Given the description of an element on the screen output the (x, y) to click on. 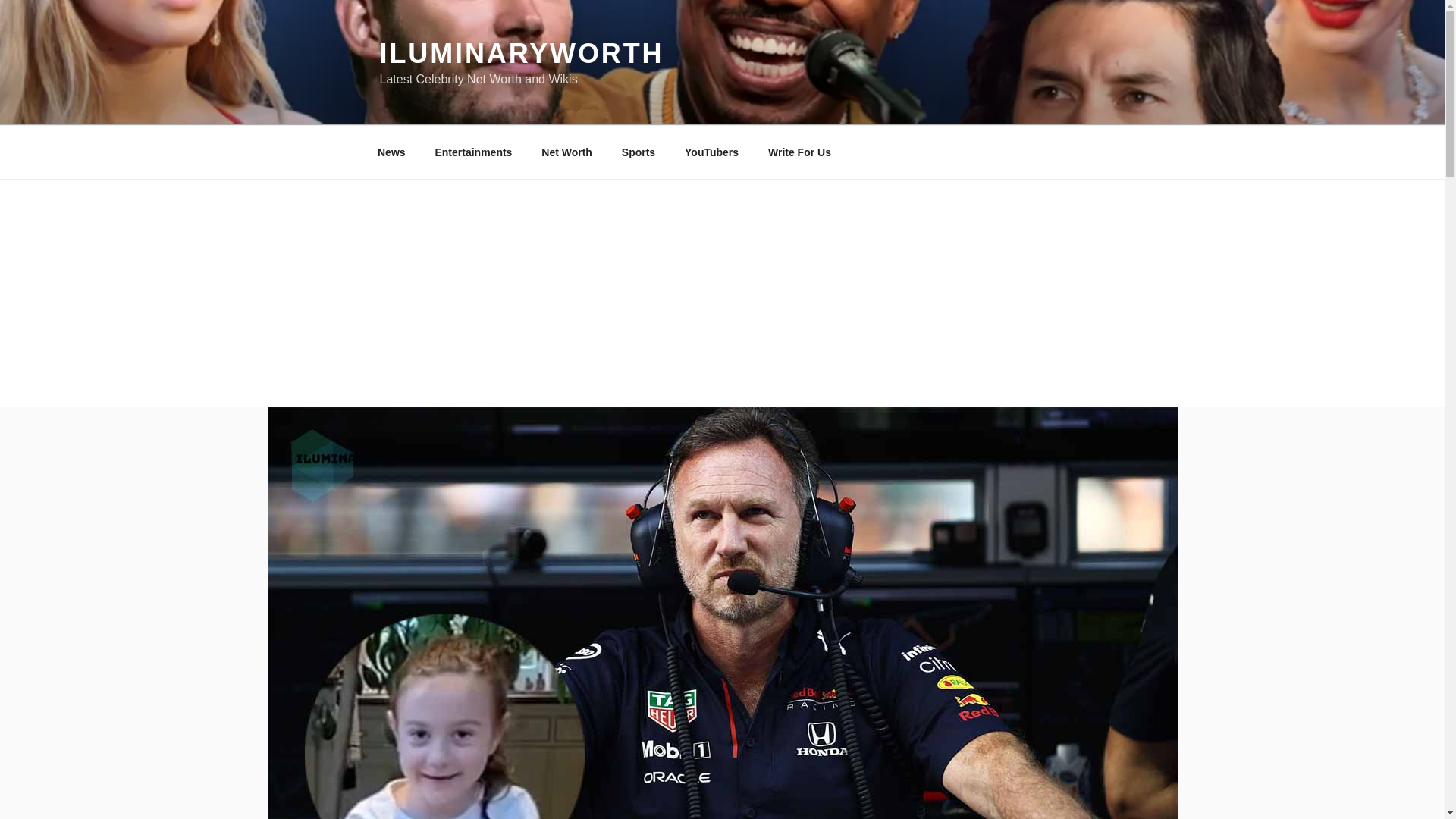
Entertainments (473, 151)
News (391, 151)
YouTubers (711, 151)
Net Worth (566, 151)
ILUMINARYWORTH (520, 52)
Write For Us (799, 151)
Sports (638, 151)
